Given the description of an element on the screen output the (x, y) to click on. 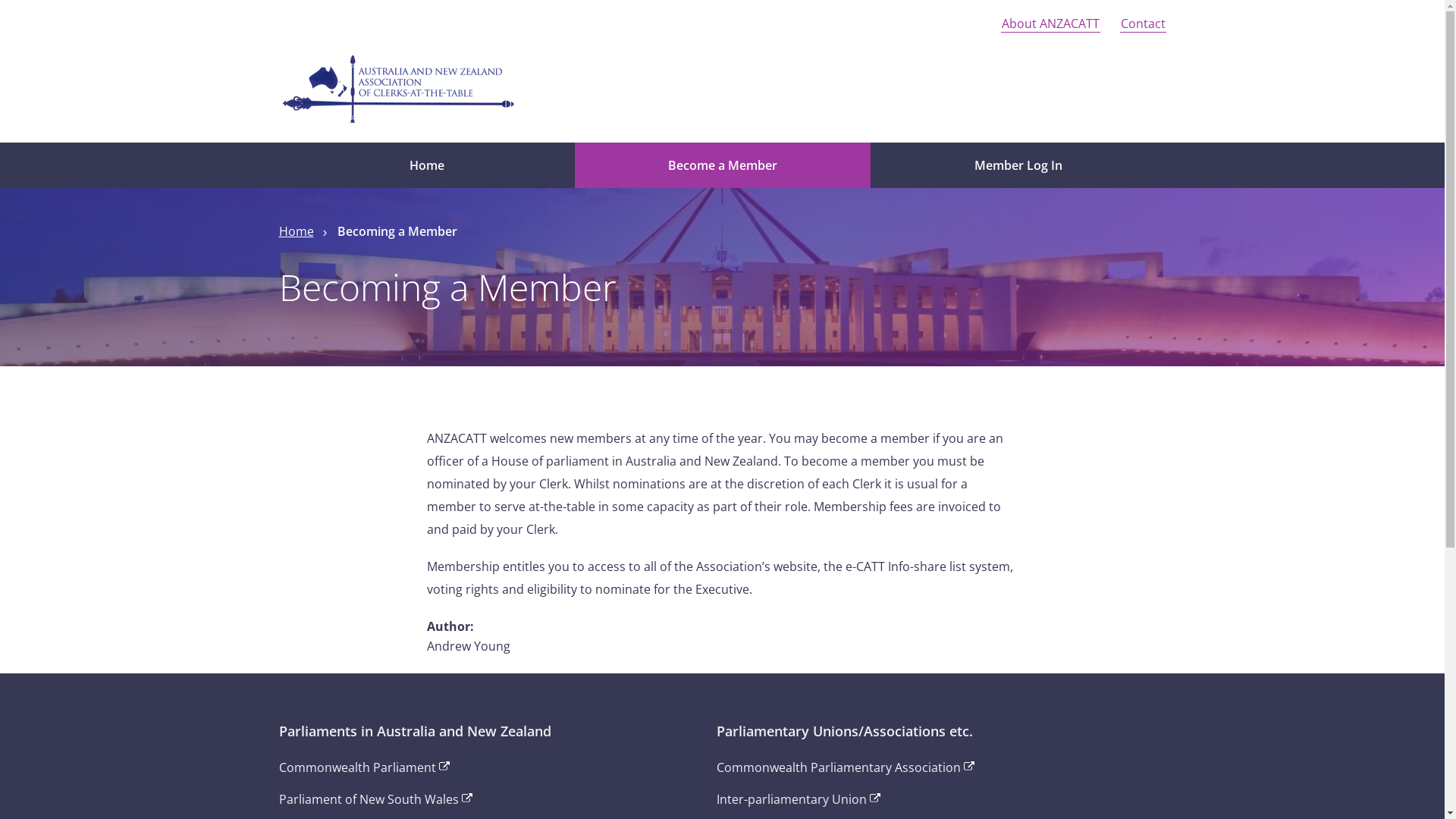
Back to Homepage Element type: hover (398, 87)
Go to top of page Element type: text (329, 247)
Home Element type: text (296, 230)
Parliament of New South Wales Element type: text (368, 798)
Inter-parliamentary Union Element type: text (791, 798)
Commonwealth Parliamentary Association Element type: text (838, 767)
Contact Element type: text (1142, 23)
Home Element type: text (426, 165)
Commonwealth Parliament Element type: text (357, 767)
About ANZACATT Element type: text (1050, 23)
Become a Member Element type: text (722, 165)
Member Log In Element type: text (1018, 165)
